Given the description of an element on the screen output the (x, y) to click on. 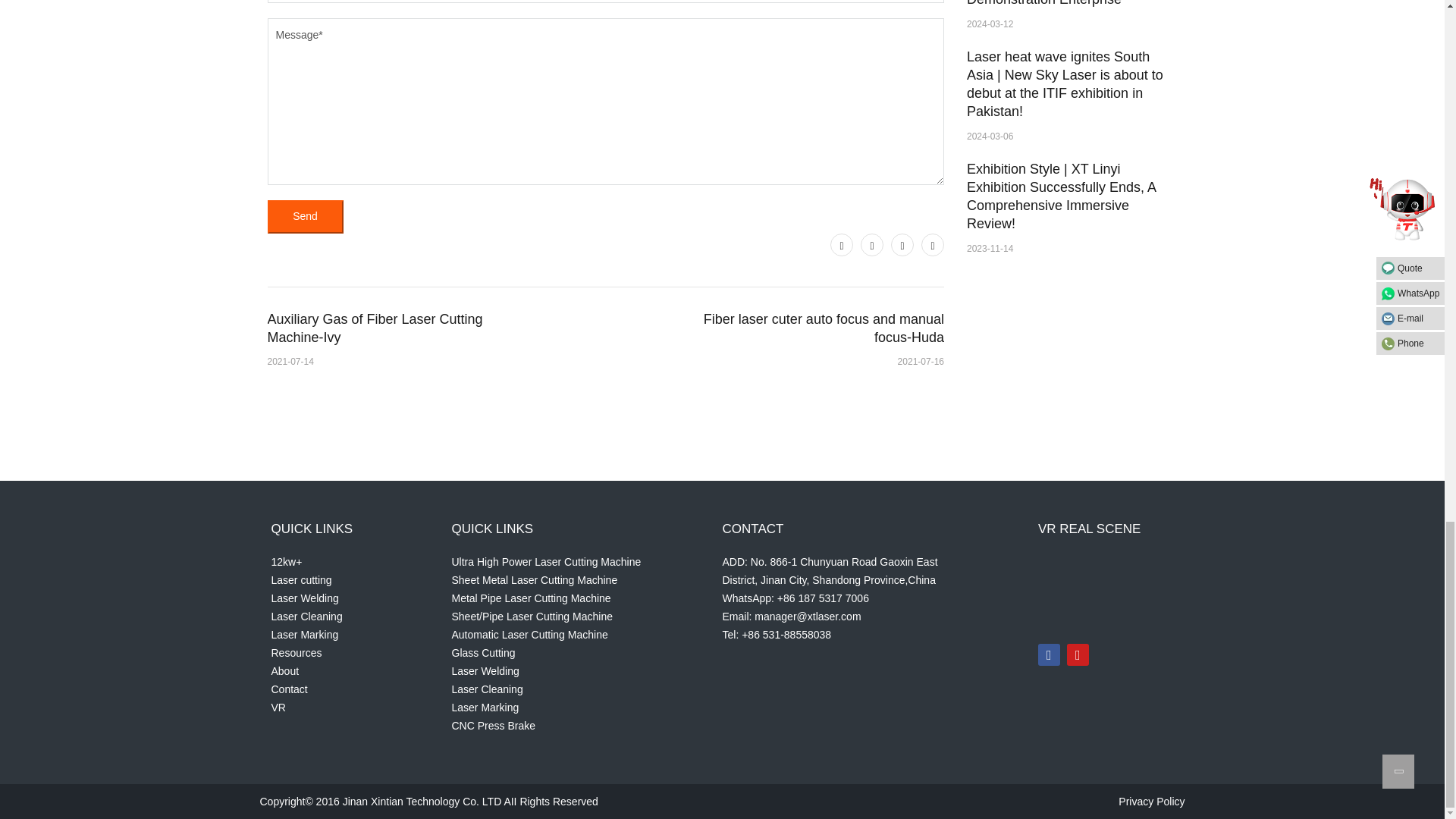
Pinterest (902, 244)
Twitter (841, 244)
Facebook (871, 244)
Send (304, 216)
2024020636 (1075, 590)
LinkedIn (932, 244)
